Given the description of an element on the screen output the (x, y) to click on. 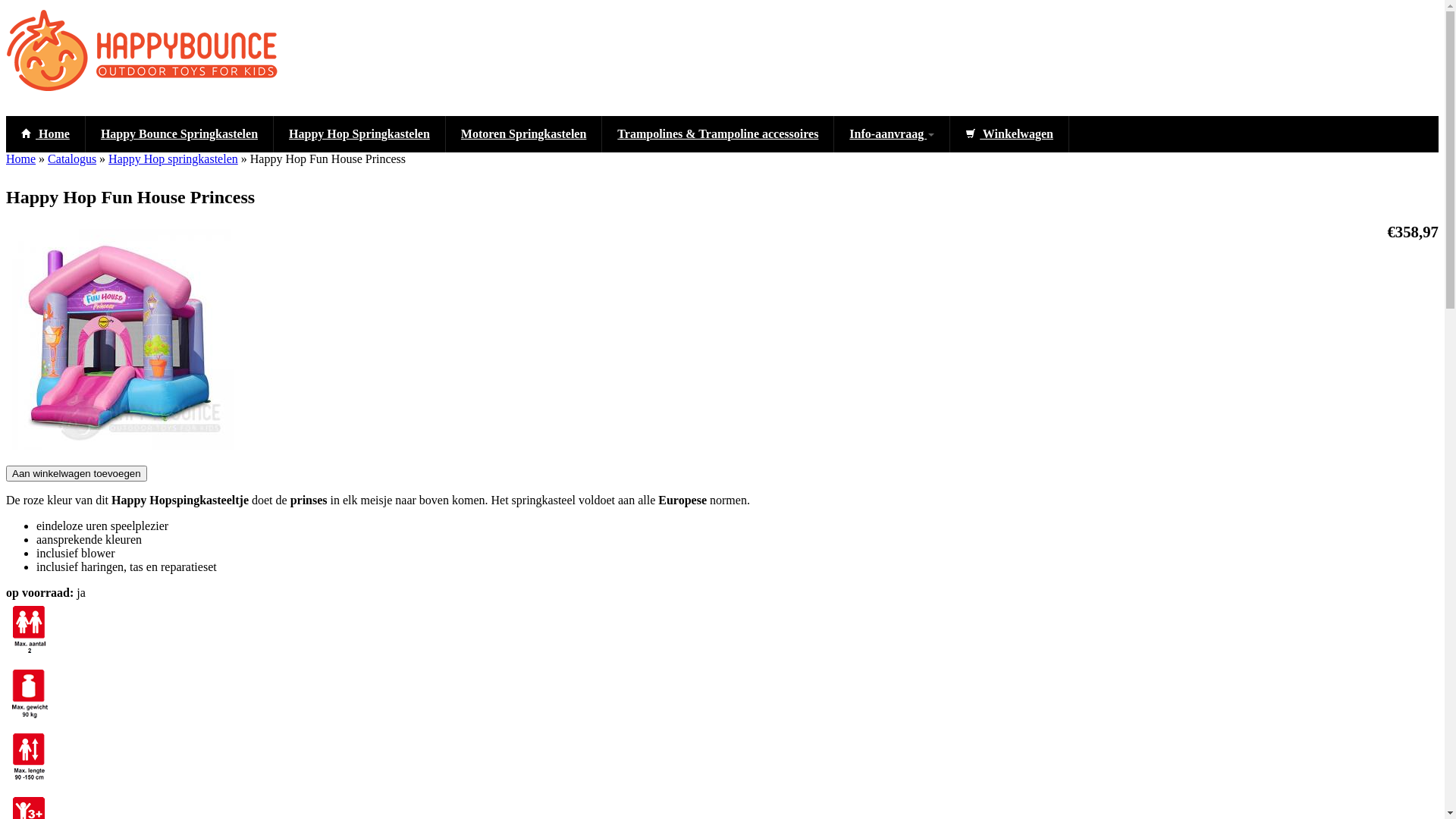
Happy Hop Fun House Princess Element type: hover (119, 445)
Info-aanvraag Element type: text (892, 134)
Home Element type: hover (157, 92)
Winkelwagen Element type: text (1009, 134)
Home Element type: text (20, 158)
Aan winkelwagen toevoegen Element type: text (76, 473)
Home Element type: text (45, 134)
Happy Hop Springkastelen Element type: text (359, 134)
Catalogus Element type: text (71, 158)
Motoren Springkastelen Element type: text (523, 134)
Trampolines & Trampoline accessoires Element type: text (718, 134)
Happy Hop springkastelen Element type: text (173, 158)
Happy Bounce Springkastelen Element type: text (179, 134)
